Given the description of an element on the screen output the (x, y) to click on. 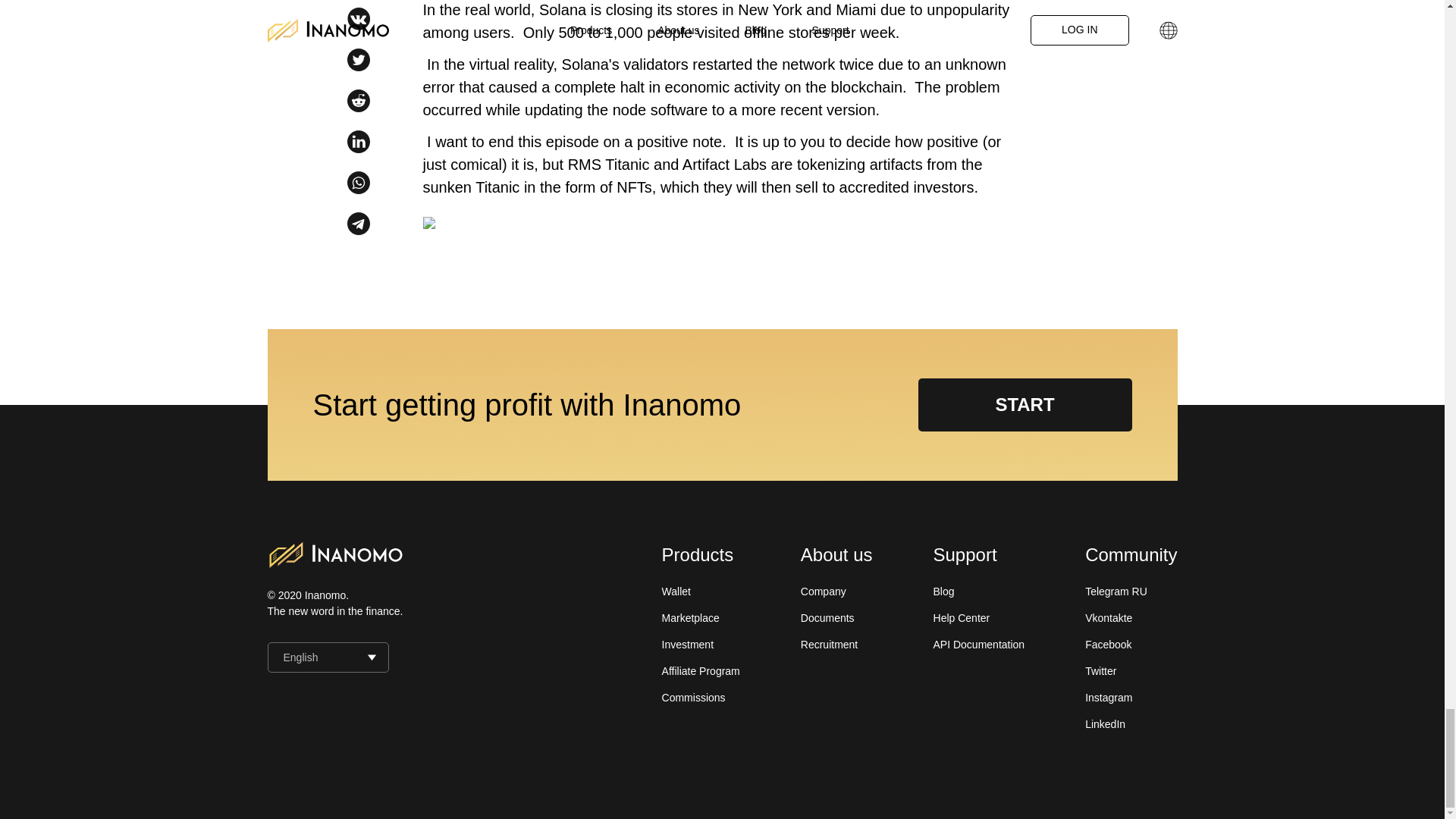
Affiliate Program (700, 671)
Investment (687, 644)
Wallet (676, 591)
Help Center (961, 617)
Telegram RU (1115, 591)
Recruitment (828, 644)
API Documentation (979, 644)
START (1024, 404)
Marketplace (690, 617)
Documents (827, 617)
